Given the description of an element on the screen output the (x, y) to click on. 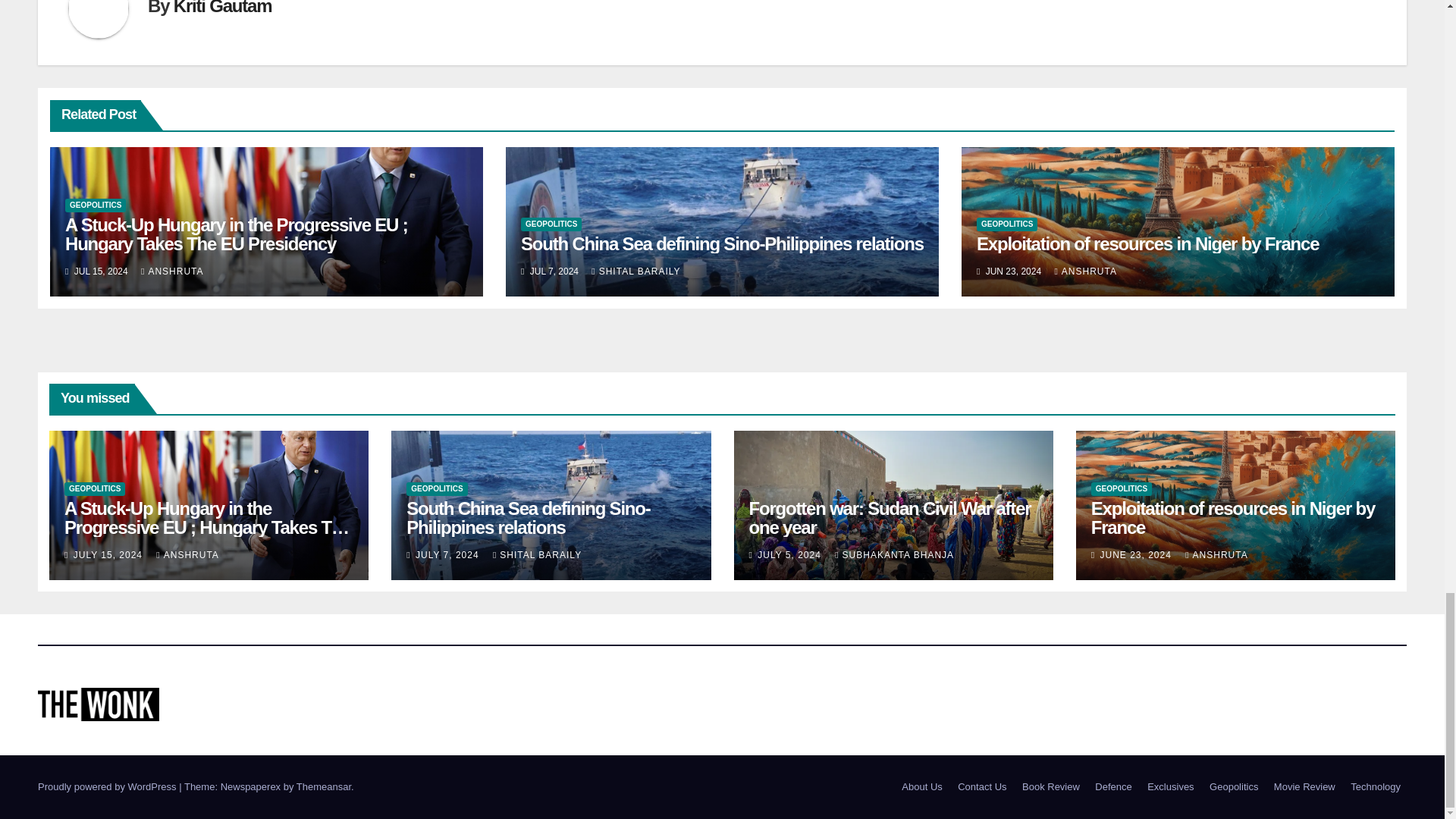
Contact Us (981, 786)
Permalink to: Exploitation of resources in Niger by France (1147, 243)
Permalink to: Forgotten war: Sudan Civil War after one year (889, 517)
Kriti Gautam (222, 7)
About Us (921, 786)
ANSHRUTA (172, 271)
GEOPOLITICS (95, 205)
Permalink to: Exploitation of resources in Niger by France (1232, 517)
